Given the description of an element on the screen output the (x, y) to click on. 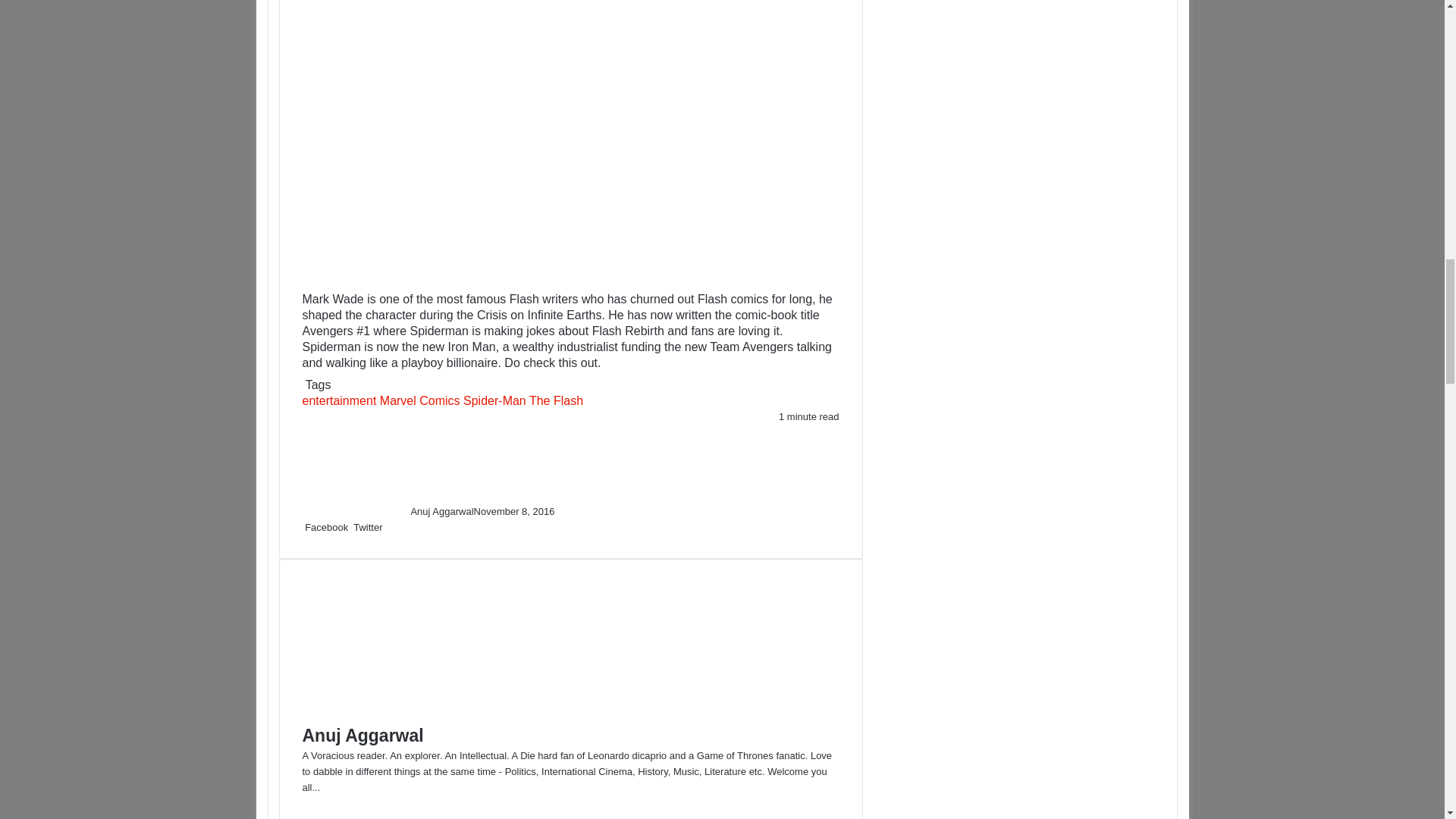
Anuj Aggarwal (441, 511)
Spider-Man (494, 400)
Facebook (325, 527)
The Flash (556, 400)
Anuj Aggarwal (362, 735)
Facebook (325, 527)
Twitter (367, 527)
Marvel Comics (420, 400)
entertainment (338, 400)
Twitter (367, 527)
